Given the description of an element on the screen output the (x, y) to click on. 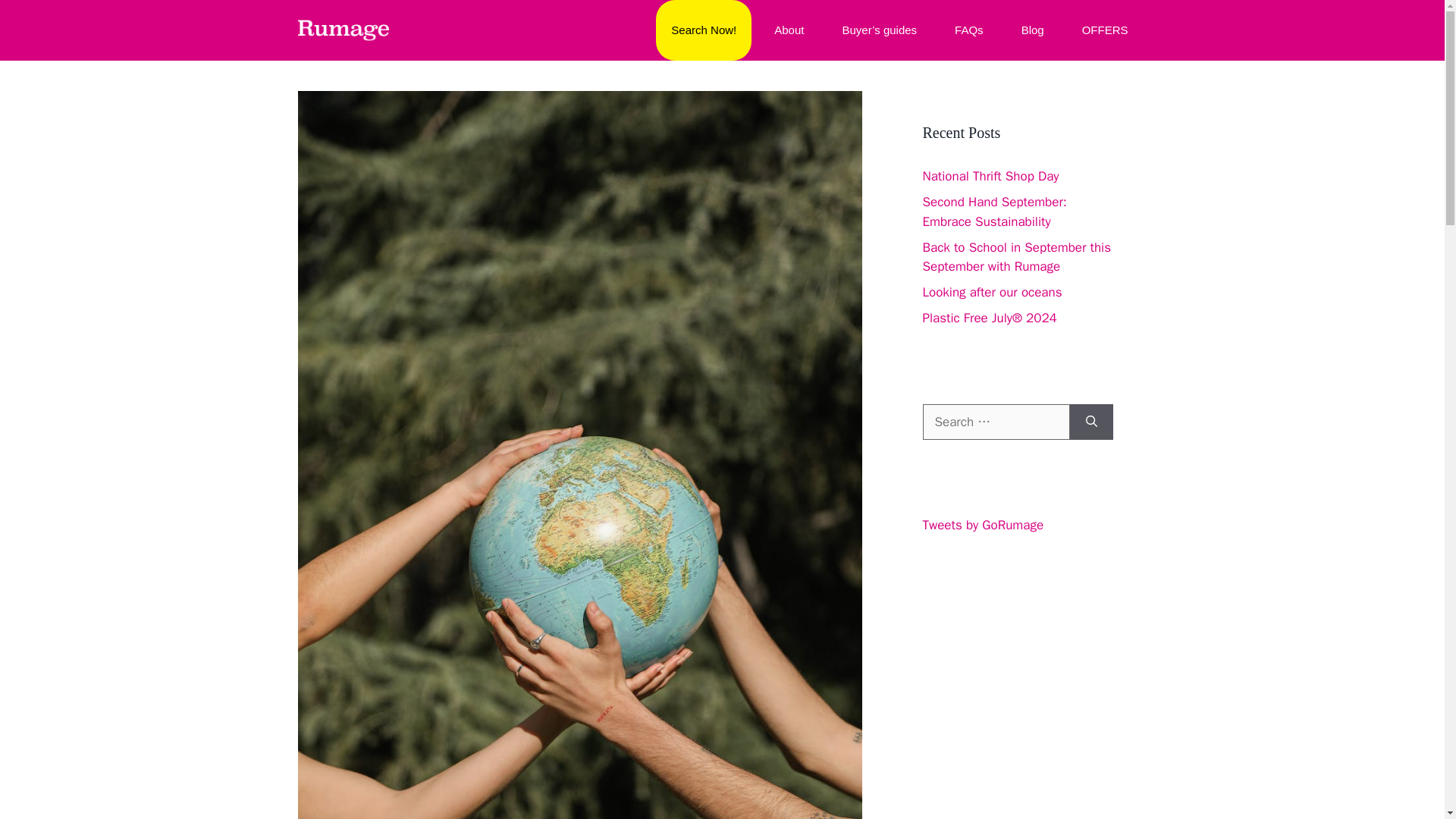
Search Now! (703, 30)
Search for: (994, 421)
Tweets by GoRumage (982, 524)
FAQs (968, 30)
Looking after our oceans (991, 292)
Rumage (342, 30)
National Thrift Shop Day (989, 176)
OFFERS (1104, 30)
Second Hand September: Embrace Sustainability (993, 212)
Back to School in September this September with Rumage (1015, 257)
